Given the description of an element on the screen output the (x, y) to click on. 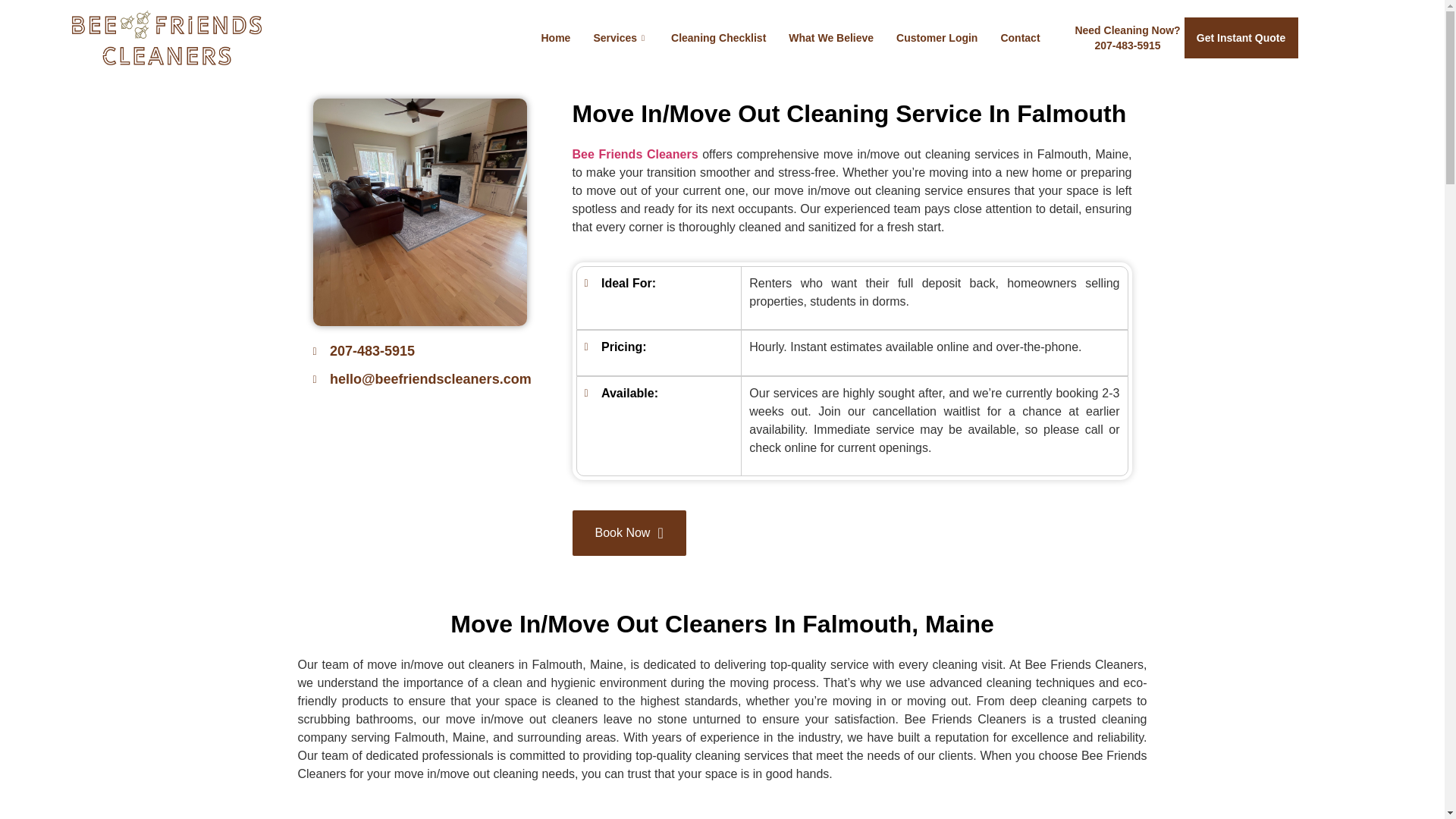
Get Instant Quote (1241, 37)
Cleaning Checklist (718, 38)
Services (1125, 37)
Customer Login (619, 38)
Contact (936, 38)
Home (1019, 38)
What We Believe (554, 38)
